Given the description of an element on the screen output the (x, y) to click on. 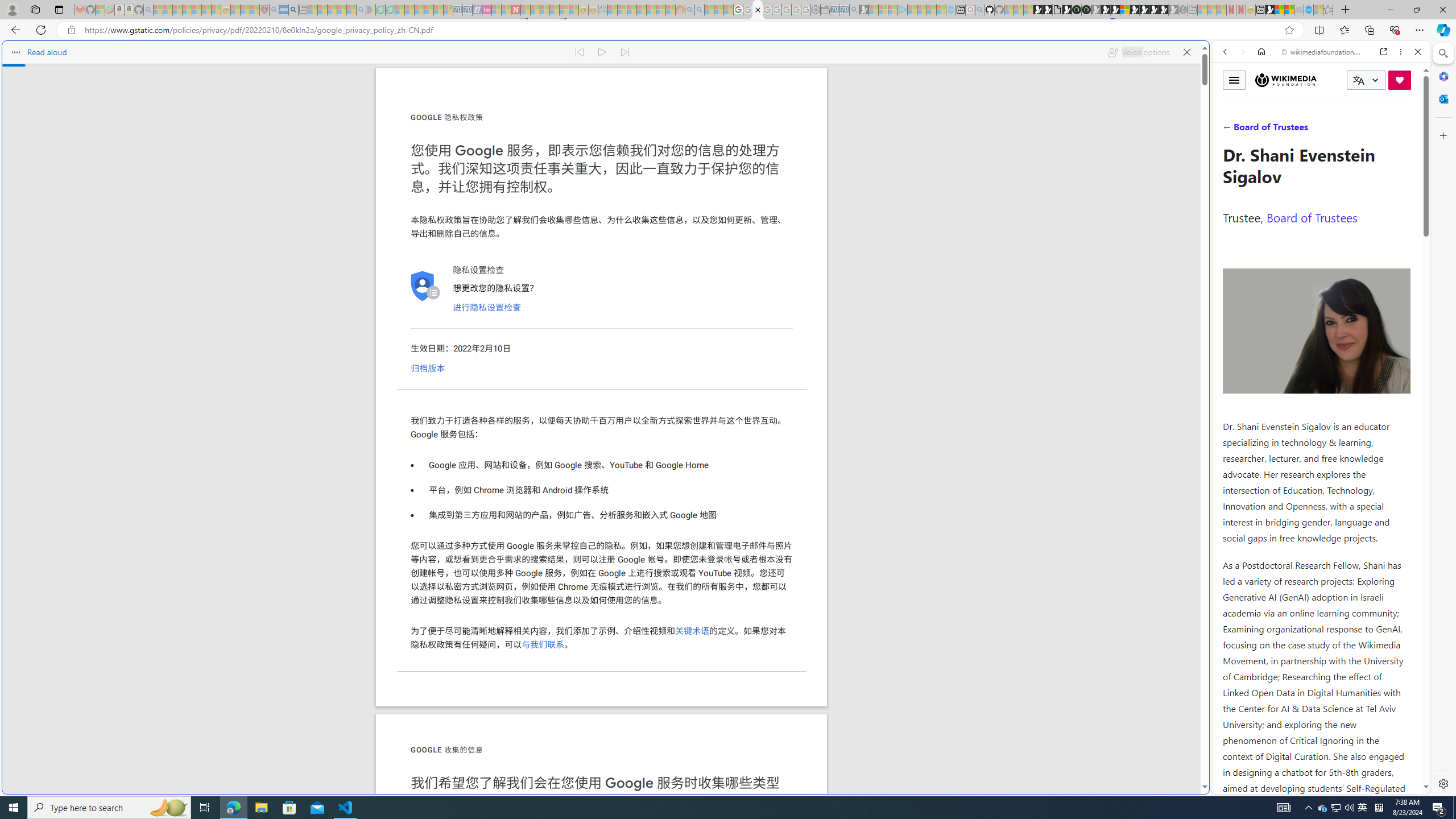
MSN (1118, 536)
Future Focus Report 2024 (1085, 9)
Search Filter, Search Tools (1350, 129)
Class: i icon icon-translate language-switcher__icon (1358, 80)
Board of Trustees (1311, 217)
New tab (1259, 9)
